Given the description of an element on the screen output the (x, y) to click on. 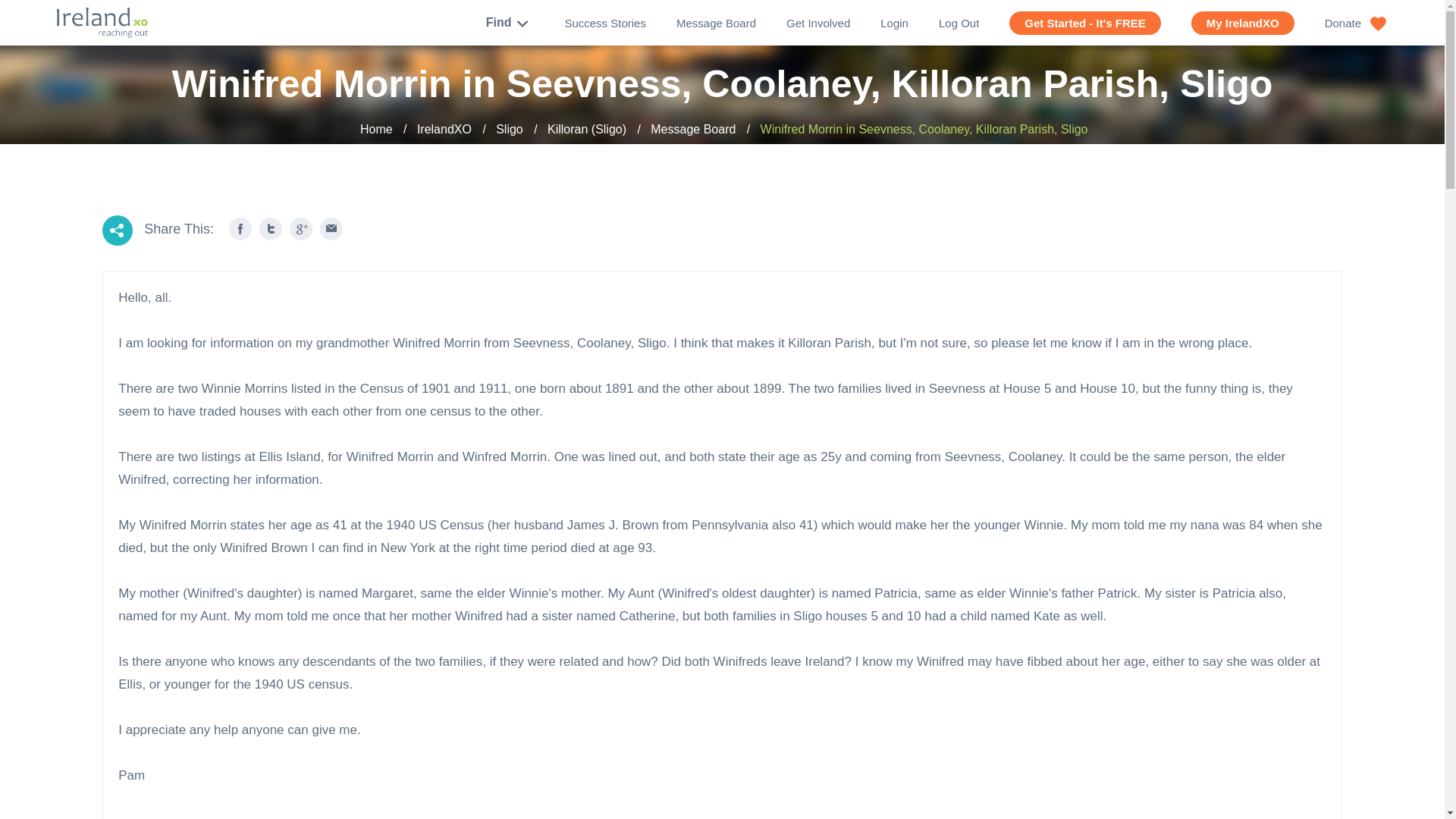
Log Out (958, 22)
My IrelandXO (1242, 22)
Get Involved (818, 22)
Login (894, 22)
Get Started - It's FREE (1084, 22)
Donate (1355, 22)
Success Stories (605, 22)
Message Board (716, 22)
